Given the description of an element on the screen output the (x, y) to click on. 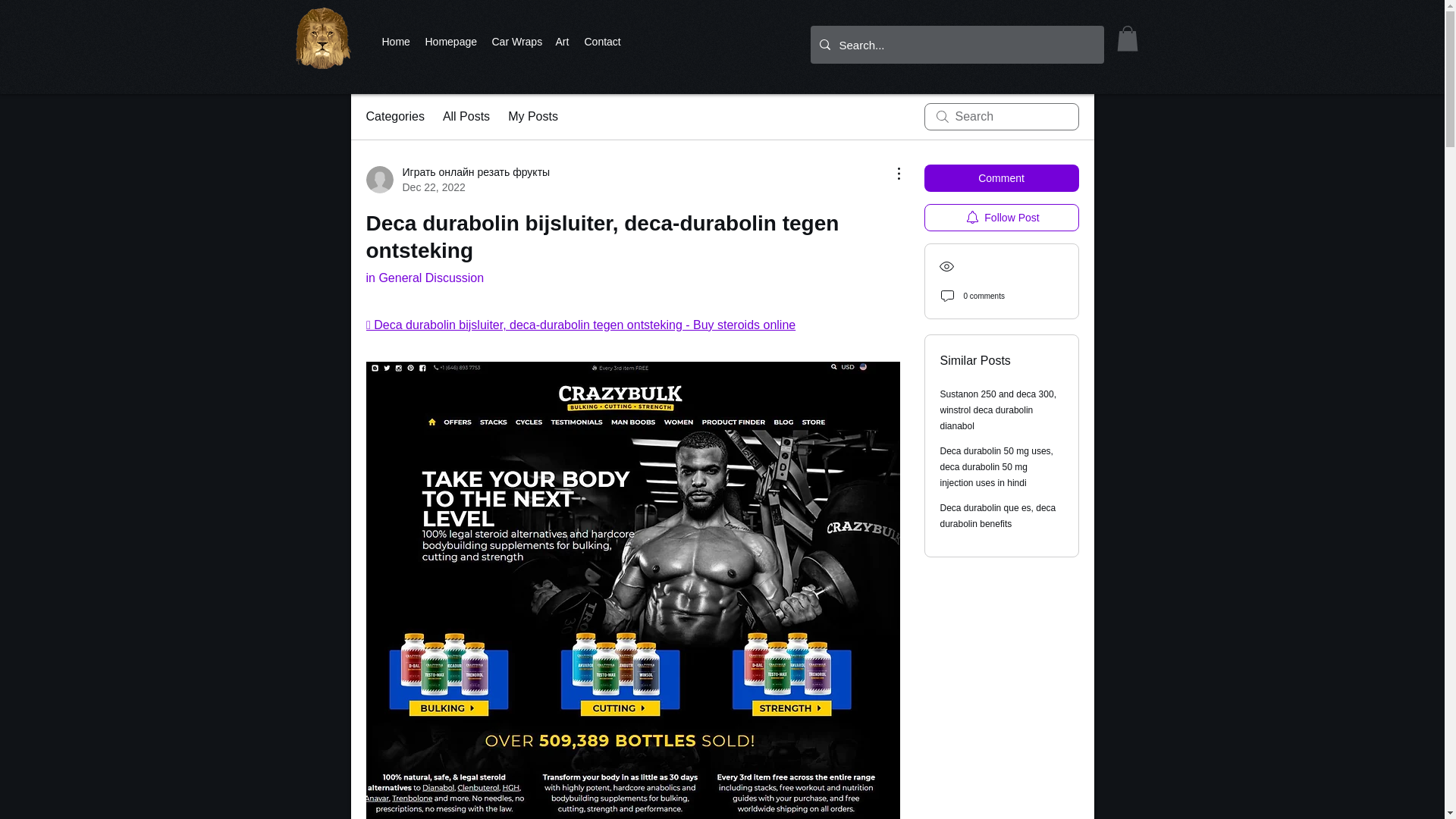
Contact (601, 41)
Homepage (449, 41)
Home (395, 41)
Art (561, 41)
Car Wraps (515, 41)
